Given the description of an element on the screen output the (x, y) to click on. 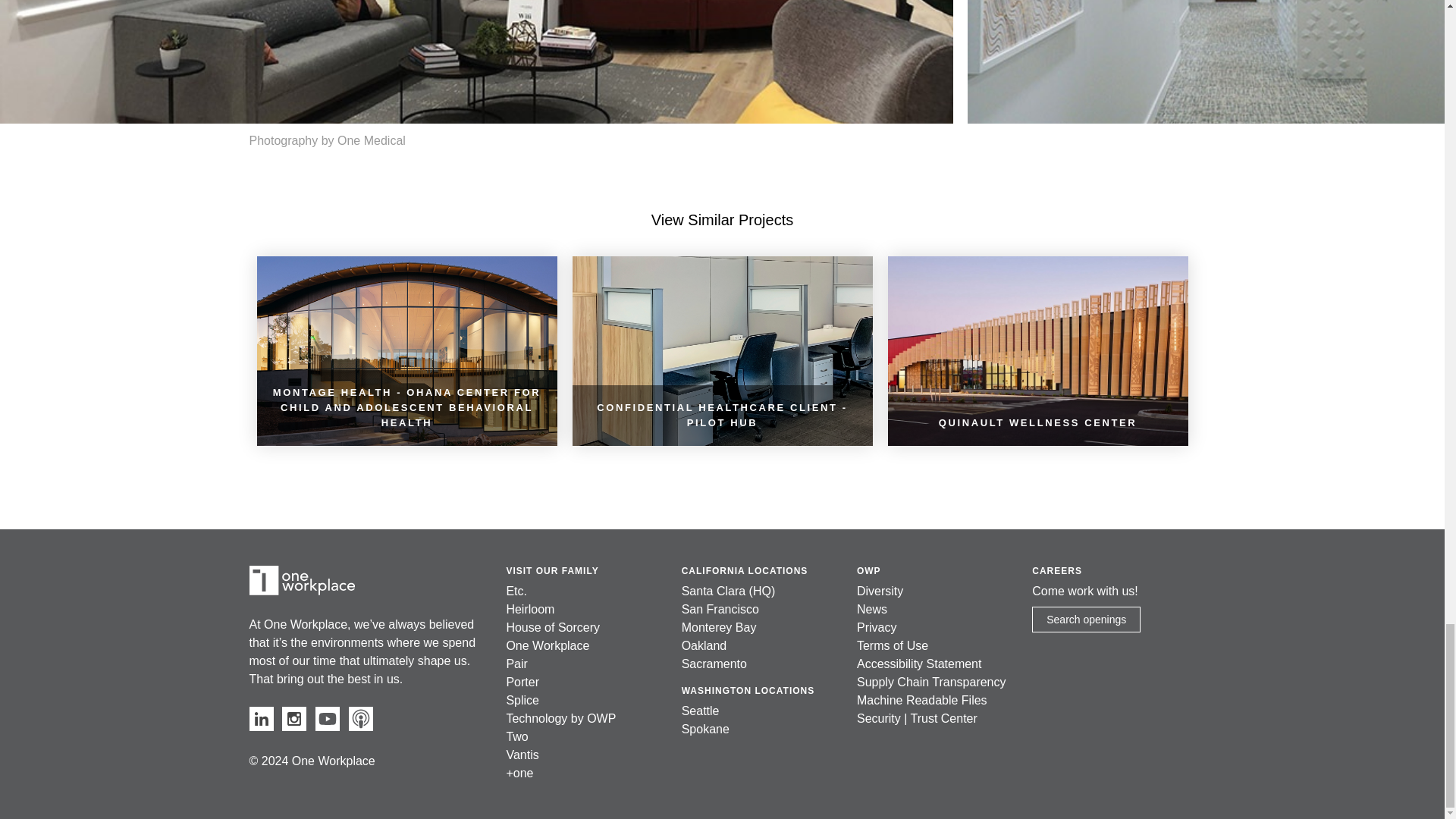
Instagram (293, 718)
Porter (521, 681)
Etc. (516, 590)
One Workplace (300, 580)
House of Sorcery (552, 626)
One Workplace (547, 645)
Apple (360, 718)
Vantis (521, 754)
Technology by OWP (560, 717)
LinkedIn (260, 718)
